Given the description of an element on the screen output the (x, y) to click on. 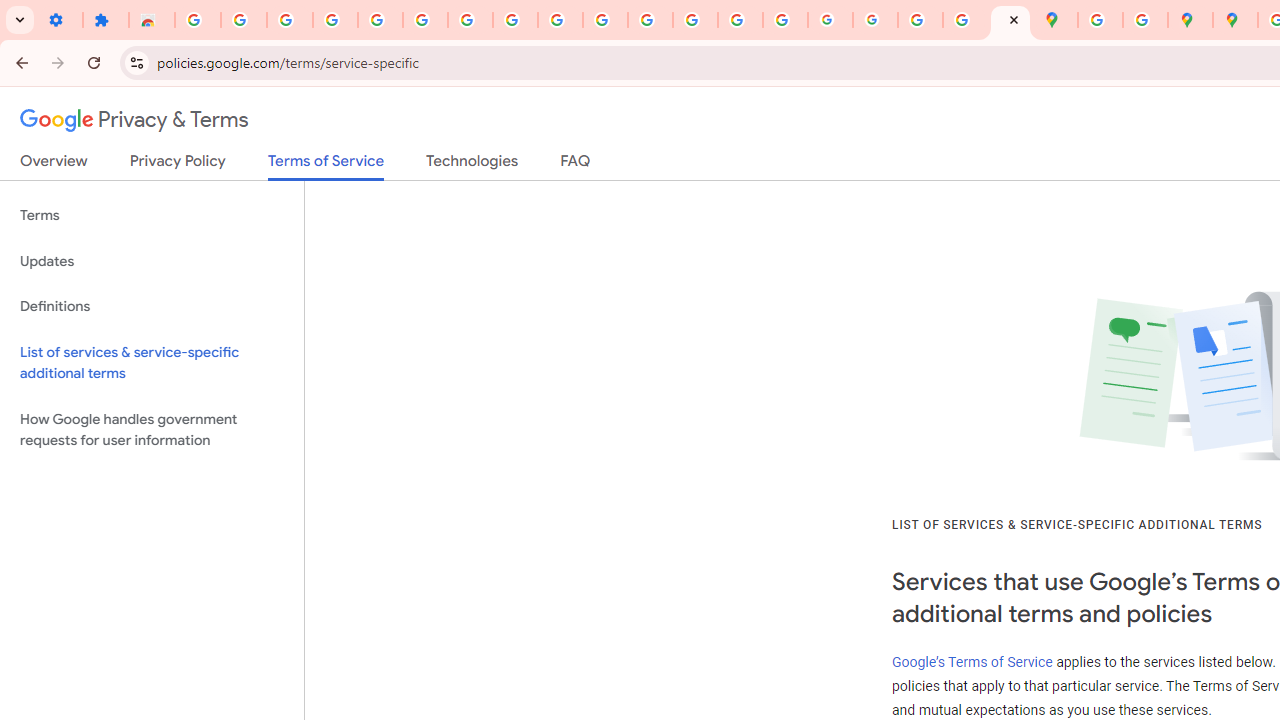
Sign in - Google Accounts (198, 20)
Reviews: Helix Fruit Jump Arcade Game (152, 20)
Delete photos & videos - Computer - Google Photos Help (290, 20)
https://scholar.google.com/ (650, 20)
